Given the description of an element on the screen output the (x, y) to click on. 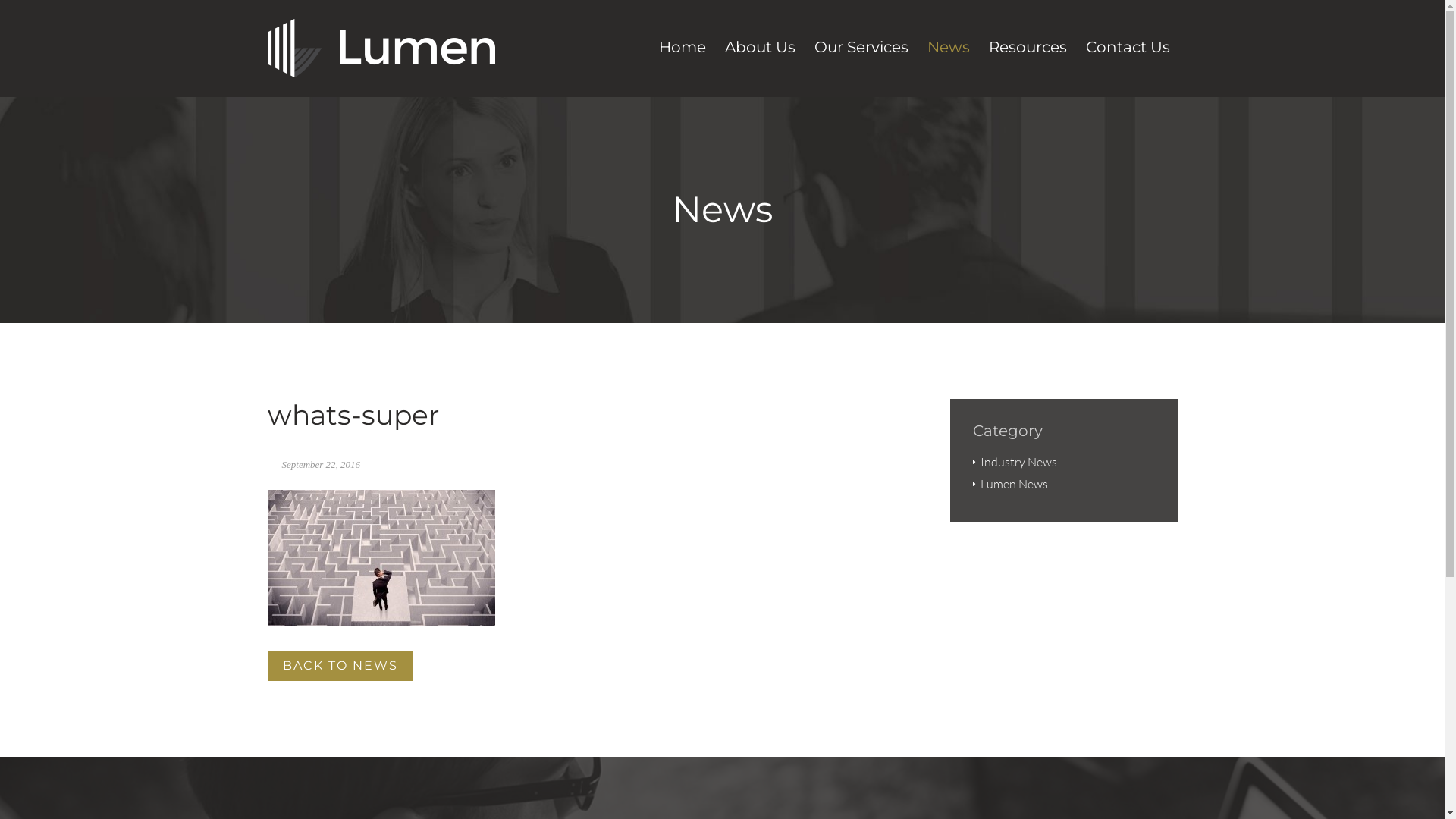
About Us Element type: text (759, 50)
Resources Element type: text (1027, 50)
Lumen News Element type: text (1013, 483)
Industry News Element type: text (1017, 461)
BACK TO NEWS Element type: text (339, 665)
Contact Us Element type: text (1127, 50)
Our Services Element type: text (861, 50)
News Element type: text (947, 50)
Home Element type: text (681, 50)
